Given the description of an element on the screen output the (x, y) to click on. 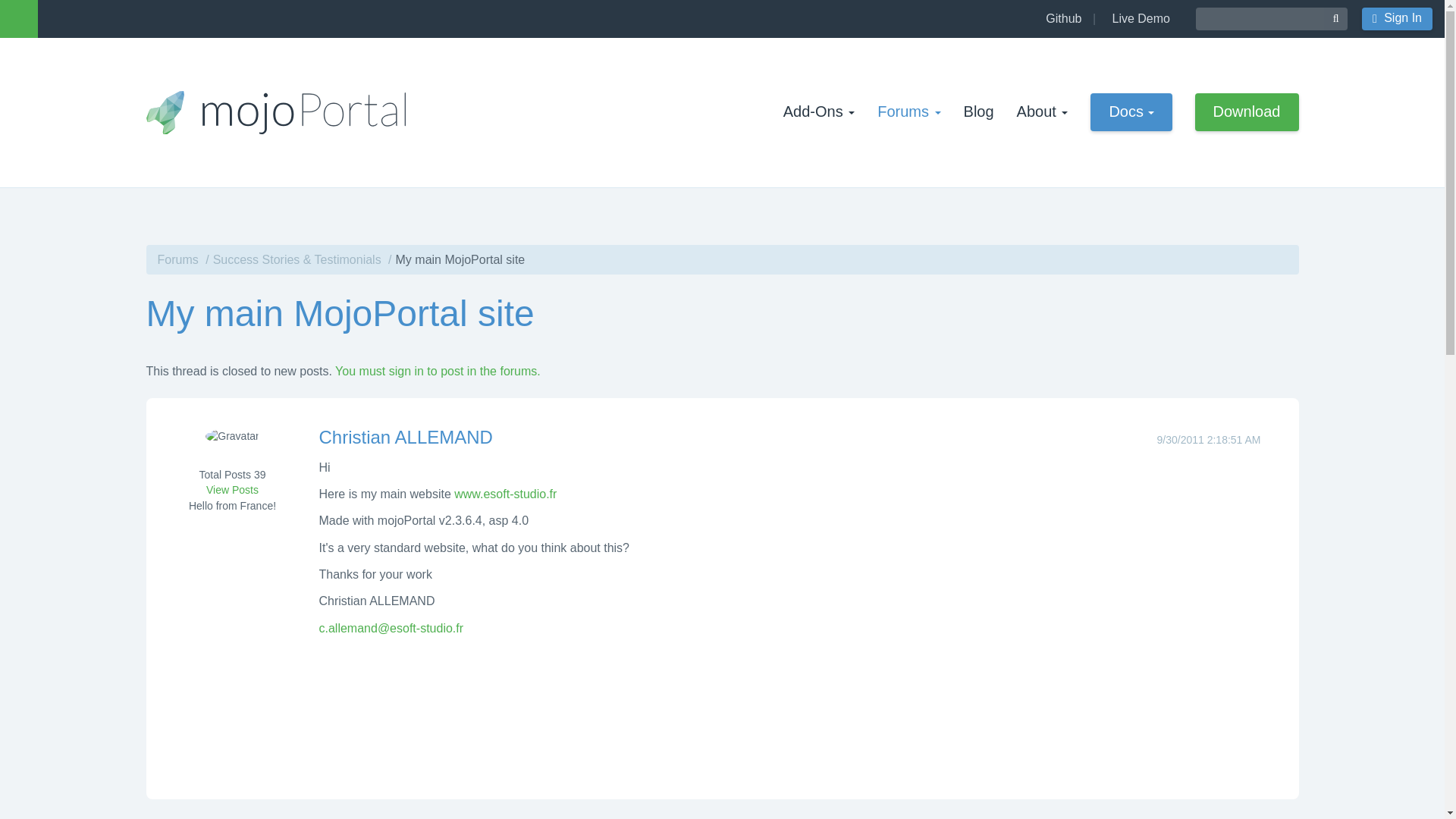
Forums (908, 111)
Add-Ons (818, 111)
Sign In (1396, 18)
Sign In (1396, 18)
About (1042, 111)
Live Demo (1138, 18)
Get your avatar (232, 446)
Github (1060, 18)
Docs (1131, 112)
Site Search (1259, 18)
